Given the description of an element on the screen output the (x, y) to click on. 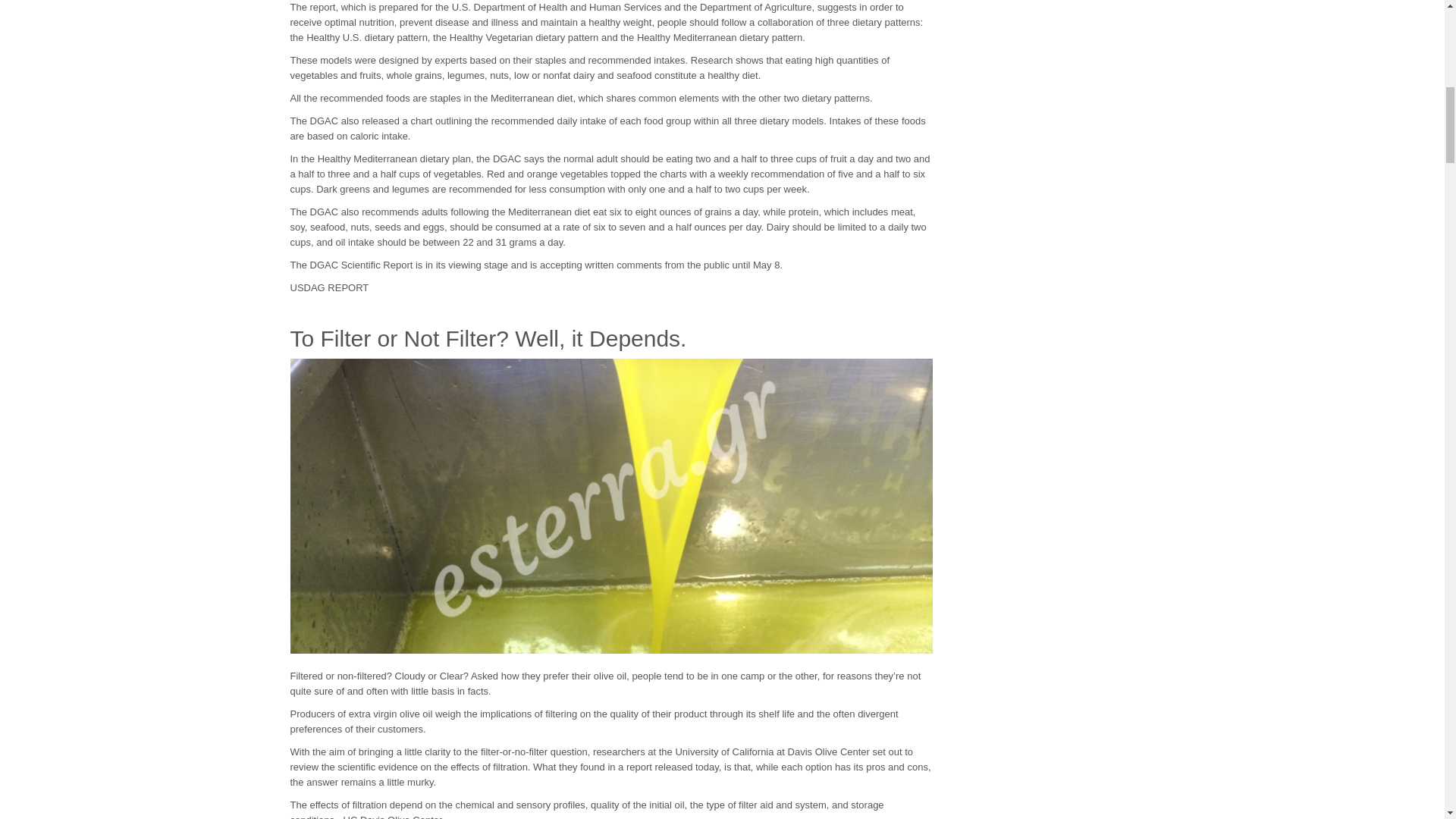
To Filter or Not Filter? Well, it Depends. (487, 338)
